Given the description of an element on the screen output the (x, y) to click on. 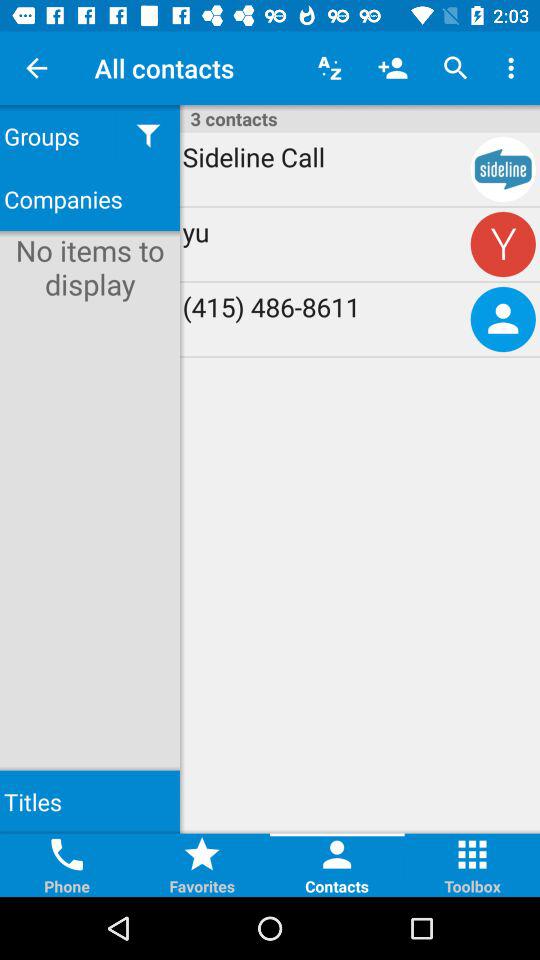
choose groups icon (58, 136)
